Given the description of an element on the screen output the (x, y) to click on. 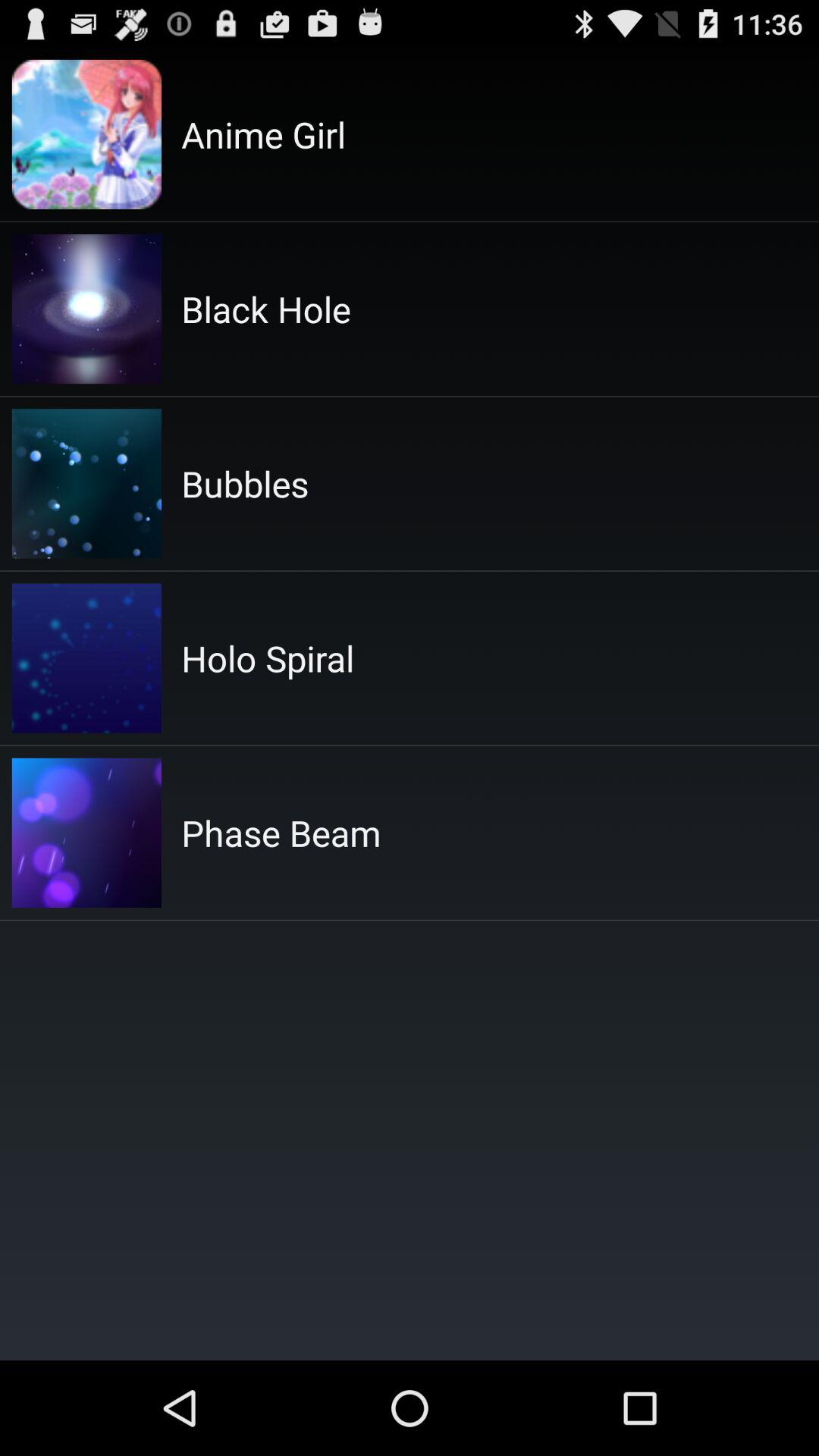
open item below bubbles (267, 658)
